Given the description of an element on the screen output the (x, y) to click on. 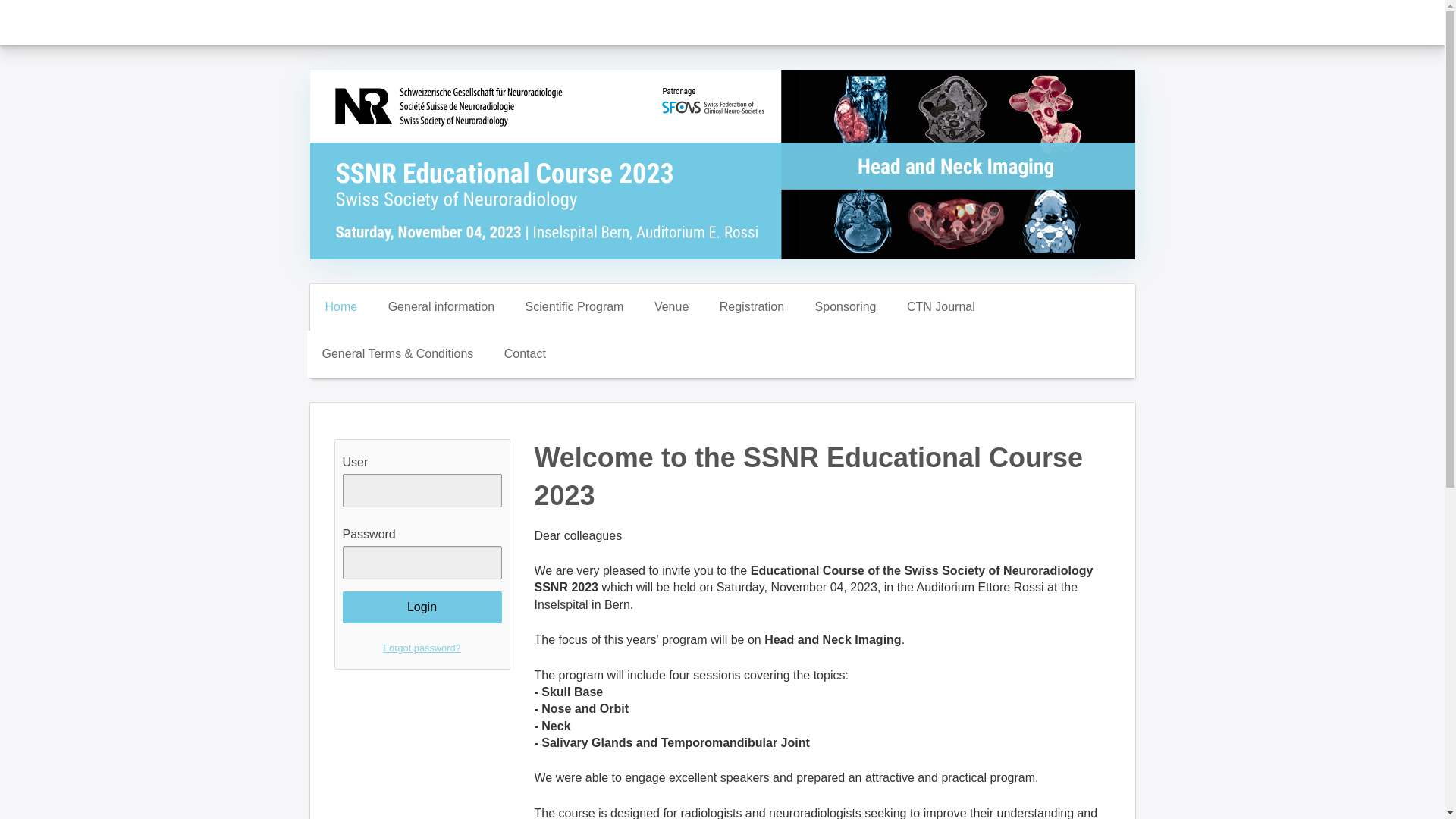
CTN Journal (940, 306)
Scientific Program (575, 306)
Forgot password? (422, 647)
Login (422, 607)
Home (340, 306)
Registration (751, 306)
Venue (671, 306)
Contact (524, 353)
Login (422, 607)
Sponsoring (845, 306)
General information (441, 306)
